Given the description of an element on the screen output the (x, y) to click on. 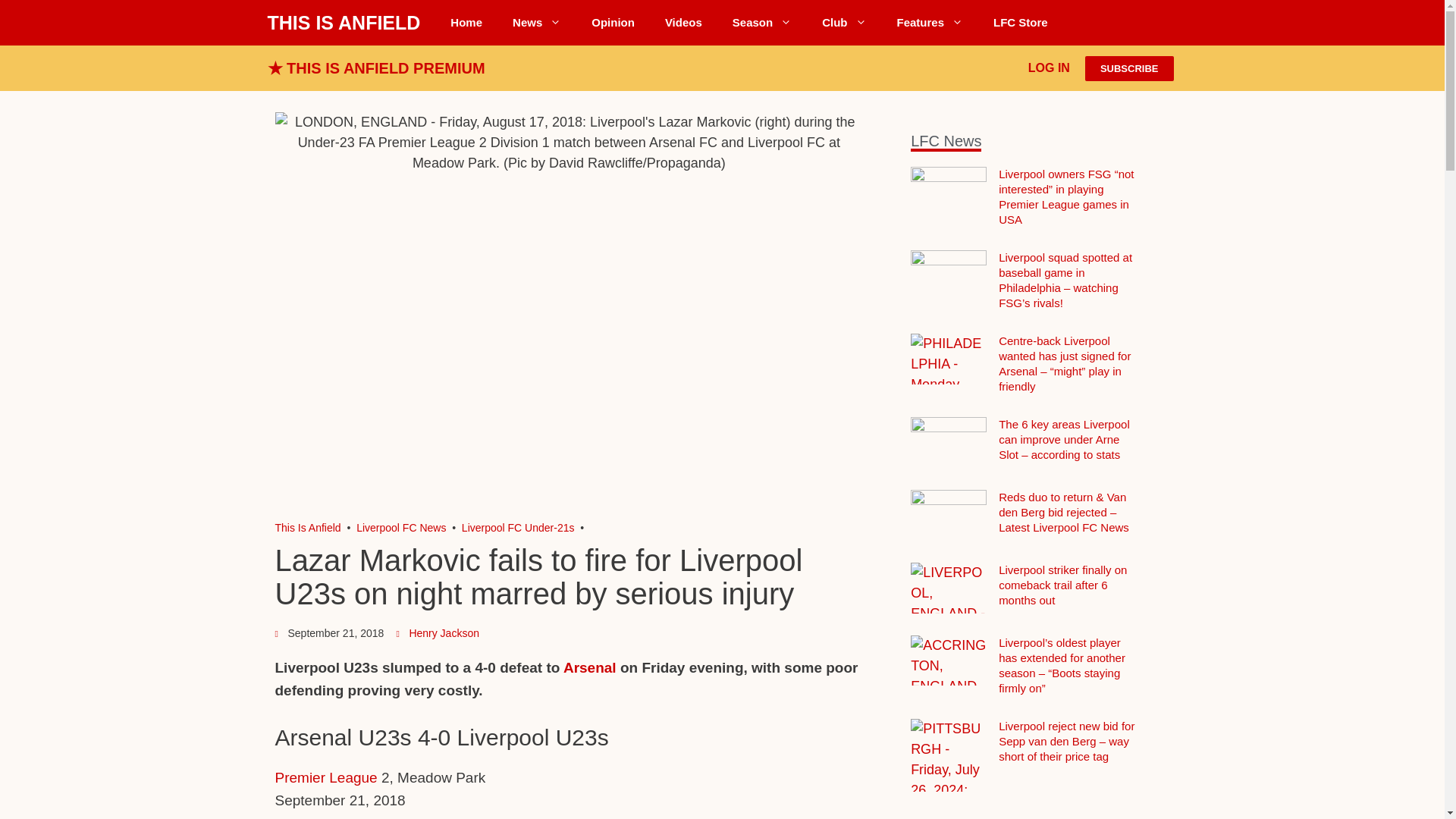
Home (466, 22)
Features (929, 22)
Liverpool FC Features (929, 22)
Liverpool FC Opinion (612, 22)
Season (761, 22)
Liverpool FC (307, 527)
Liverpool FC Videos (683, 22)
Opinion (612, 22)
Go to the Liverpool FC News category archives. (400, 527)
THIS IS ANFIELD (343, 22)
News (536, 22)
Club (843, 22)
Videos (683, 22)
Liverpool FC News (536, 22)
Go to the Liverpool FC Under-21s category archives. (518, 527)
